Given the description of an element on the screen output the (x, y) to click on. 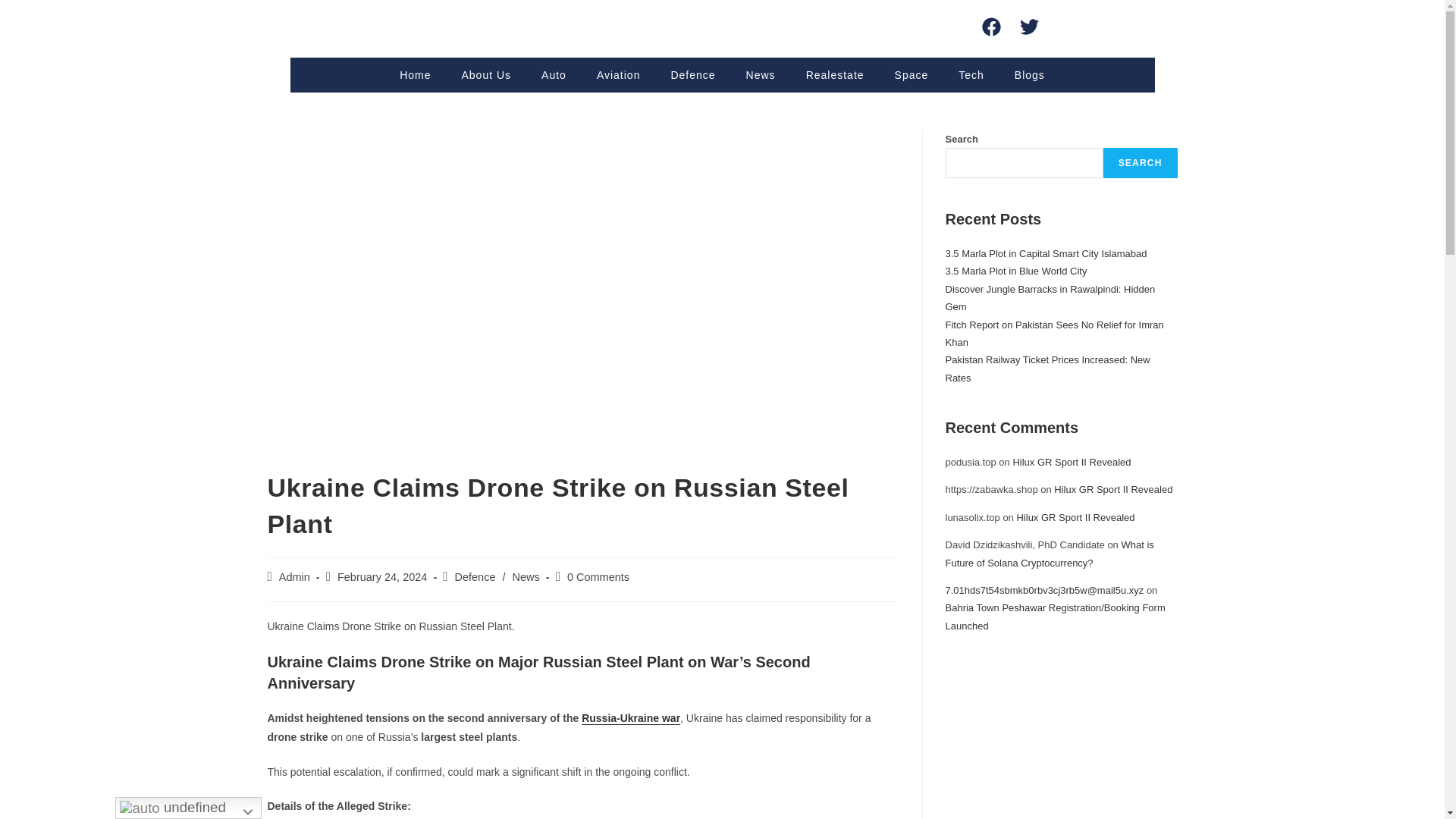
Defence (692, 74)
Tech (970, 74)
Home (414, 74)
Blogs (1028, 74)
About Us (485, 74)
News (760, 74)
Auto (552, 74)
Space (911, 74)
Aviation (618, 74)
Realestate (834, 74)
undefined (188, 807)
